Given the description of an element on the screen output the (x, y) to click on. 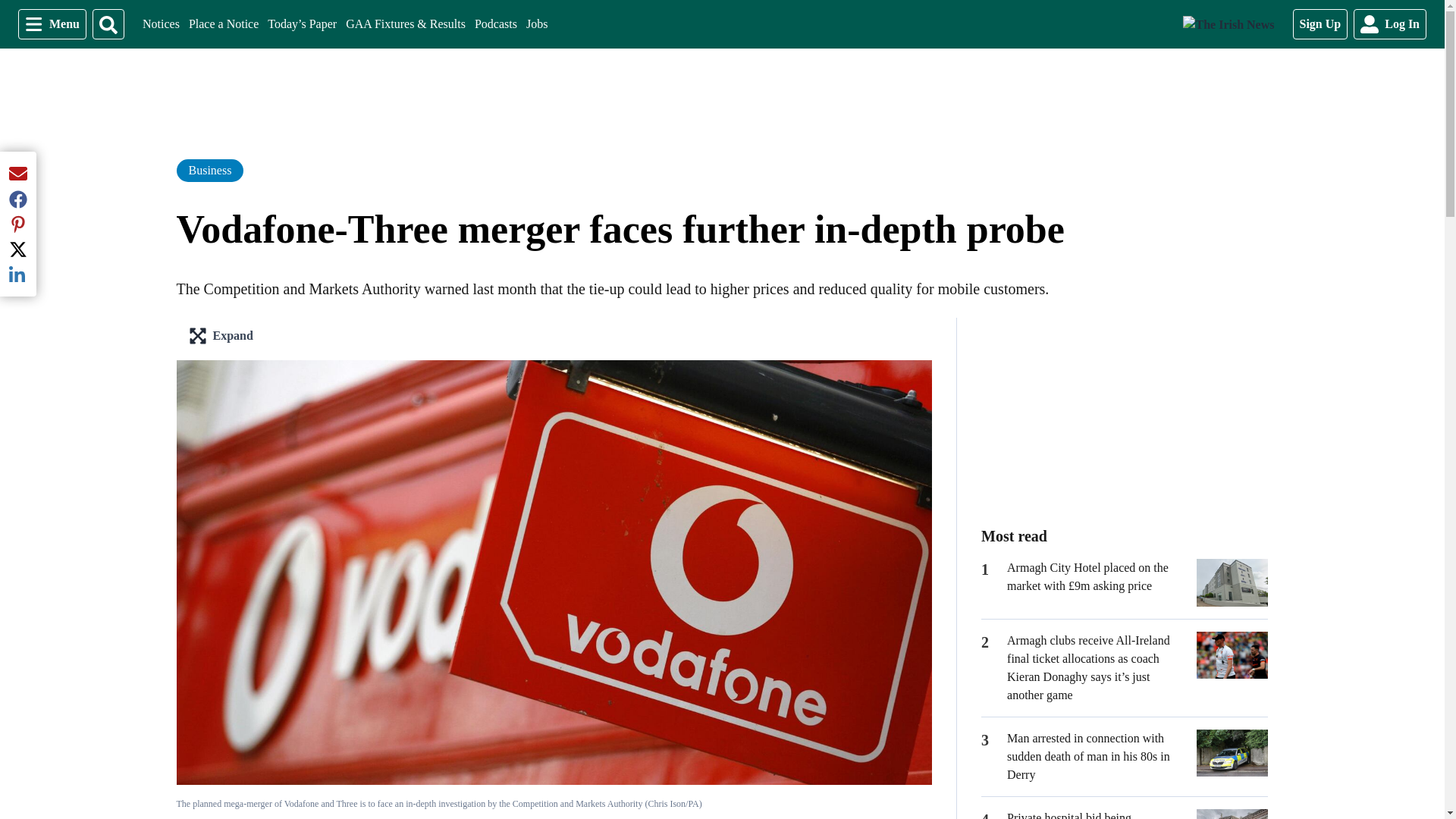
The Irish News (1228, 23)
Menu (51, 24)
Sign Up (1320, 24)
Podcasts (160, 24)
3rd party ad content (536, 24)
3rd party ad content (495, 24)
Log In (1124, 411)
